Given the description of an element on the screen output the (x, y) to click on. 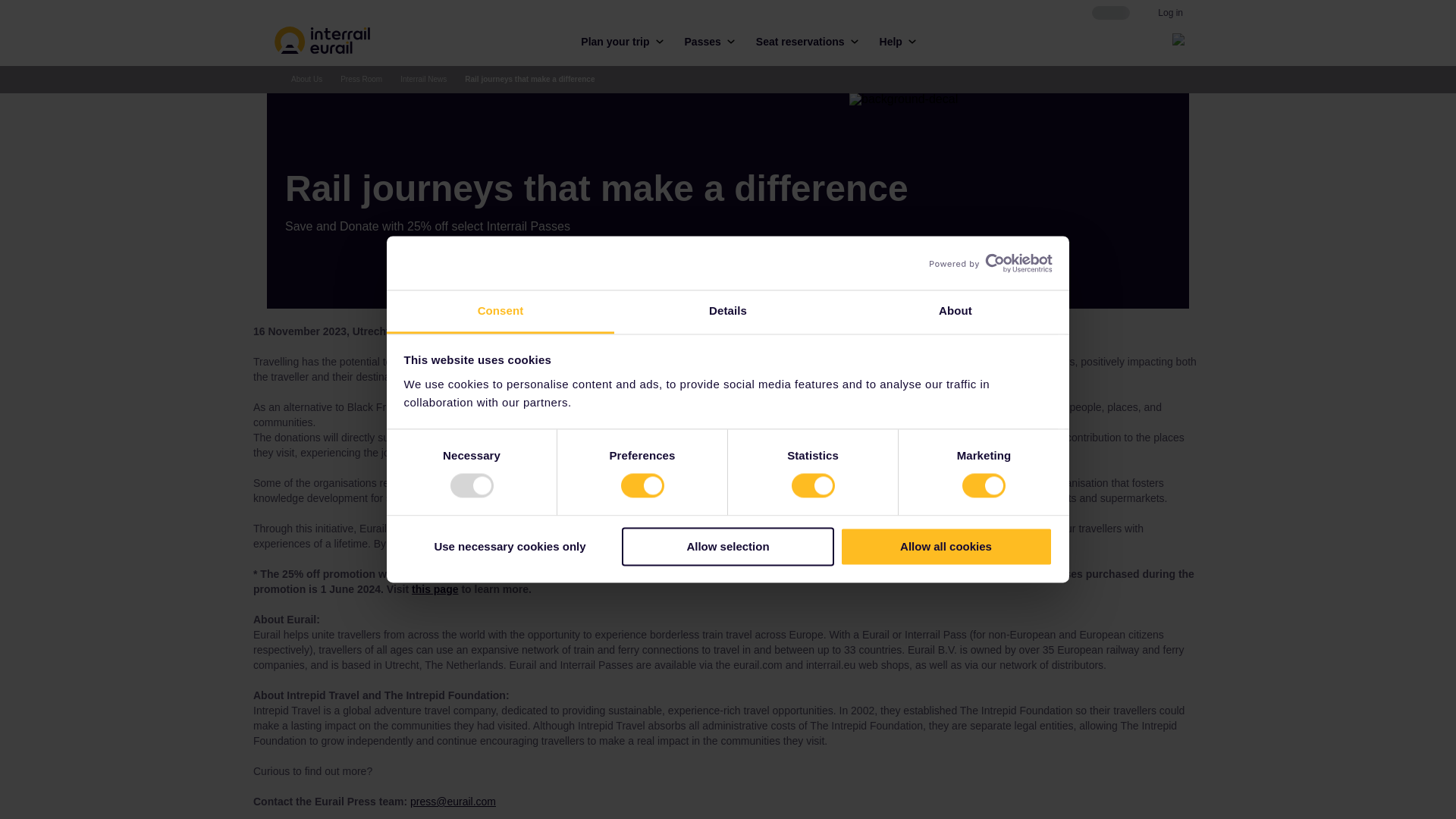
Consent (500, 311)
About (954, 311)
Details (727, 311)
